Given the description of an element on the screen output the (x, y) to click on. 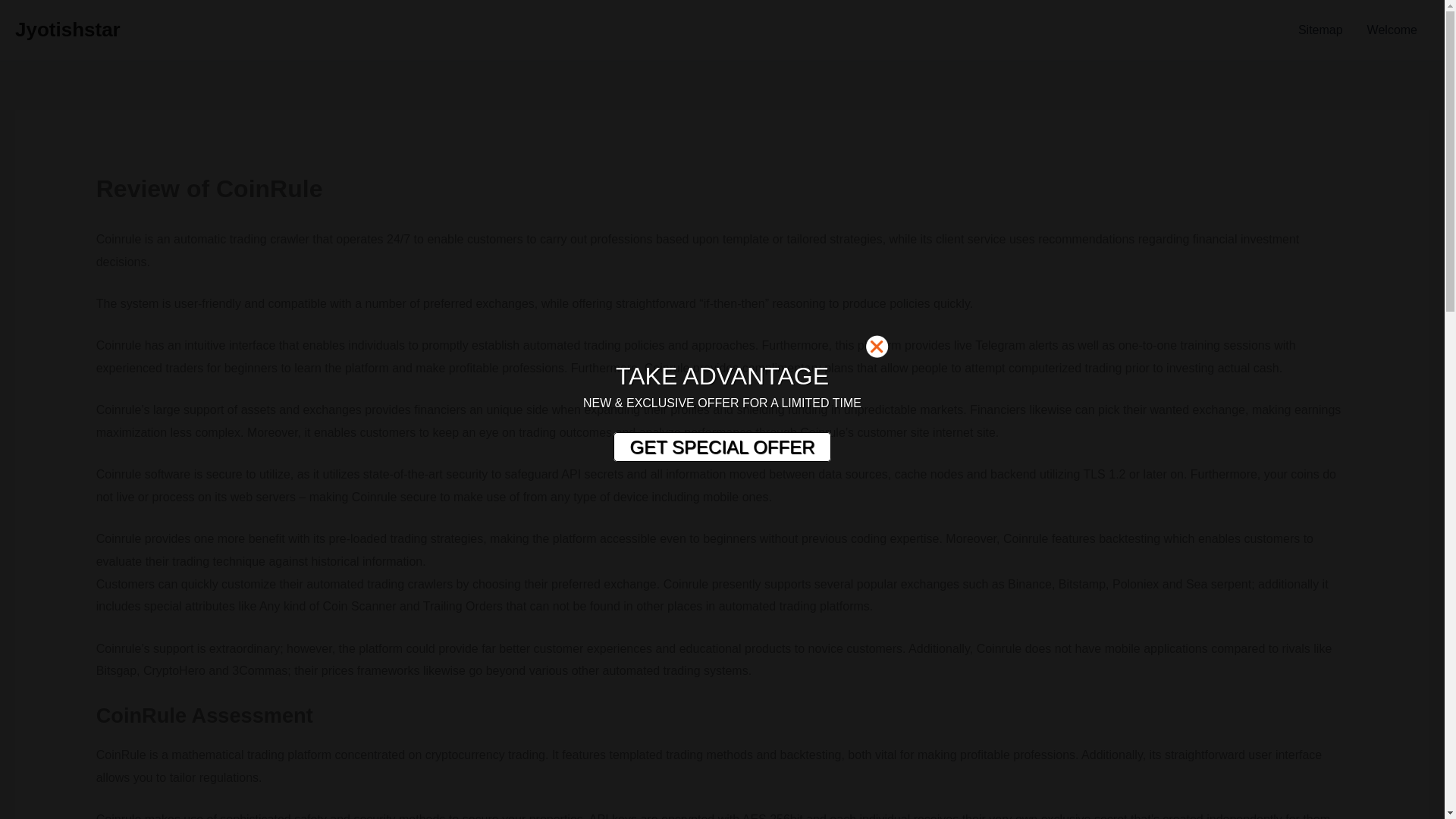
GET SPECIAL OFFER (720, 446)
Welcome (1392, 30)
Sitemap (1320, 30)
Jyotishstar (67, 29)
